Given the description of an element on the screen output the (x, y) to click on. 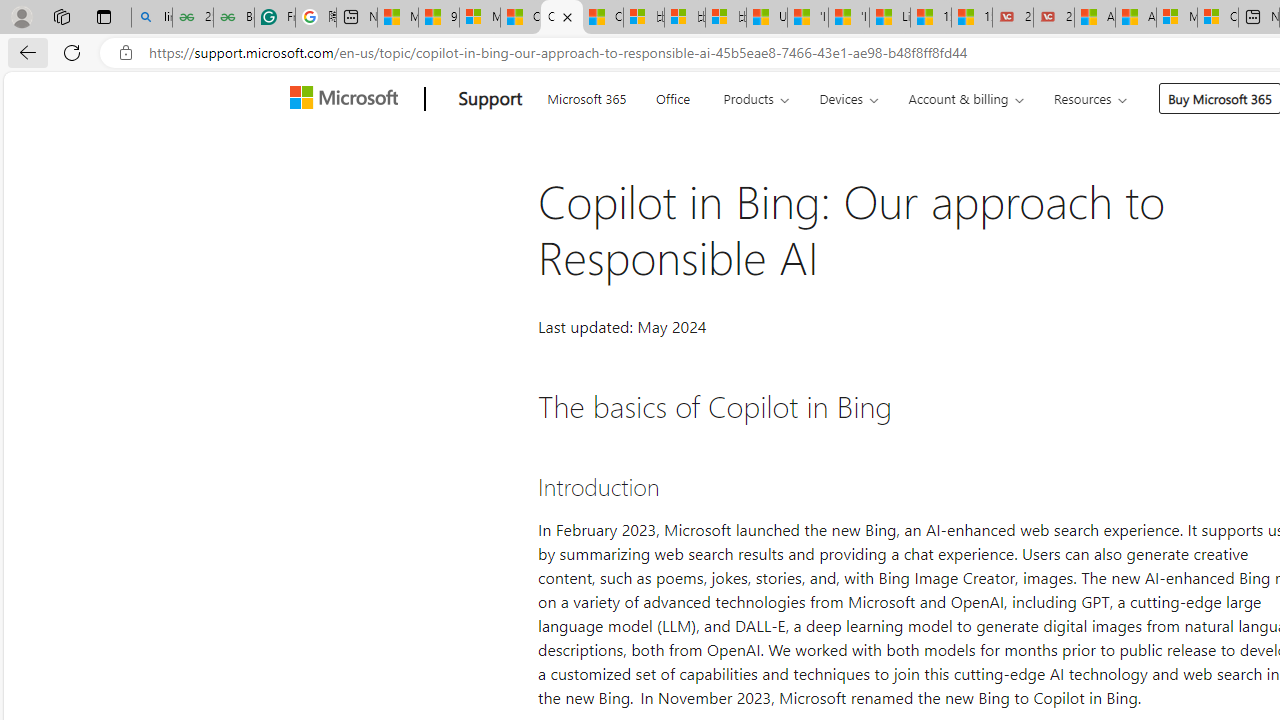
21 Movies That Outdid the Books They Were Based On (1053, 17)
Support (490, 99)
Office (672, 96)
Office (672, 96)
Free AI Writing Assistance for Students | Grammarly (274, 17)
